Given the description of an element on the screen output the (x, y) to click on. 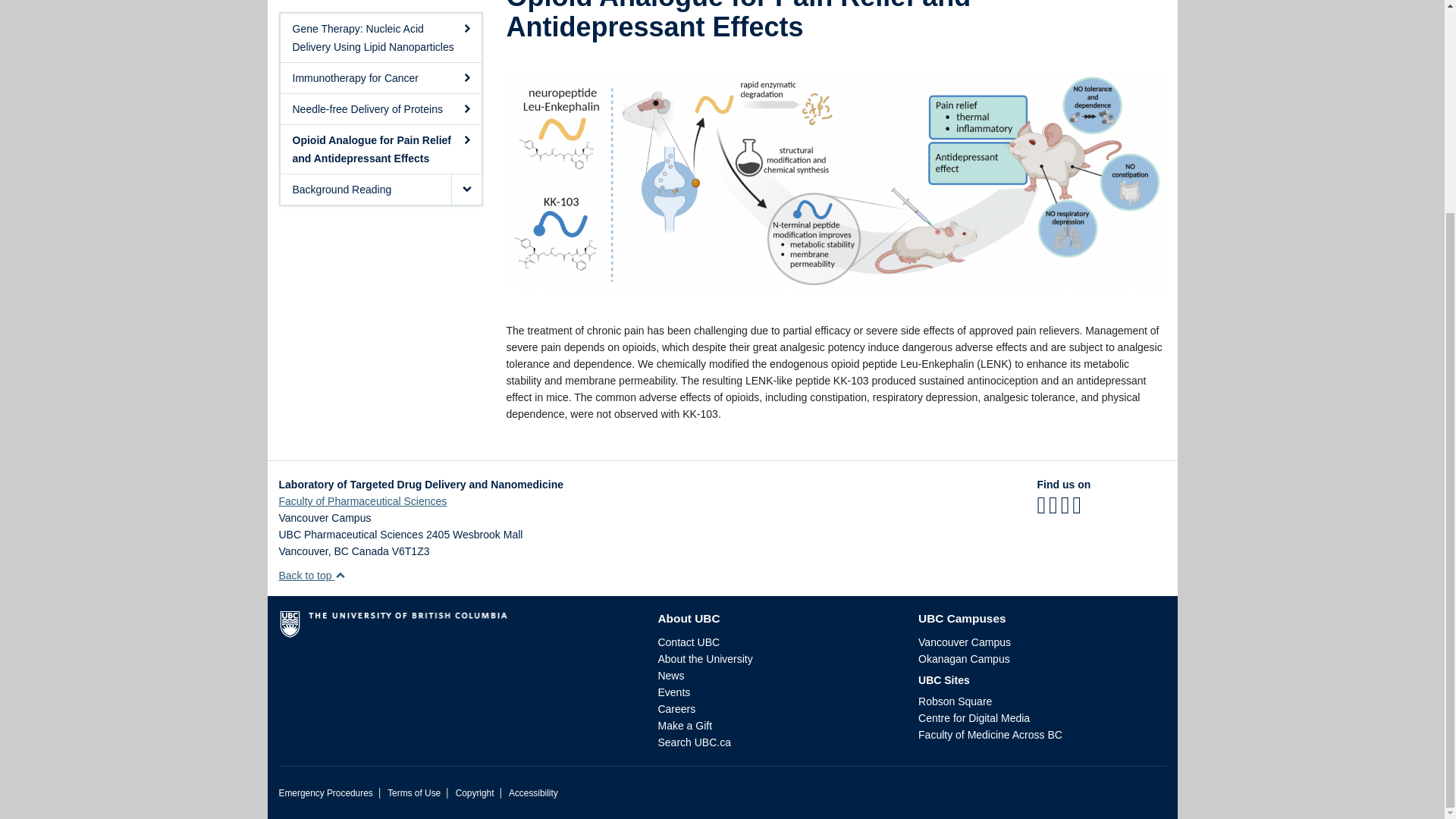
Emergency Procedures (325, 792)
Back to top (312, 575)
UBC Copyright (475, 792)
Accessibility (532, 792)
Terms of Use (414, 792)
